Given the description of an element on the screen output the (x, y) to click on. 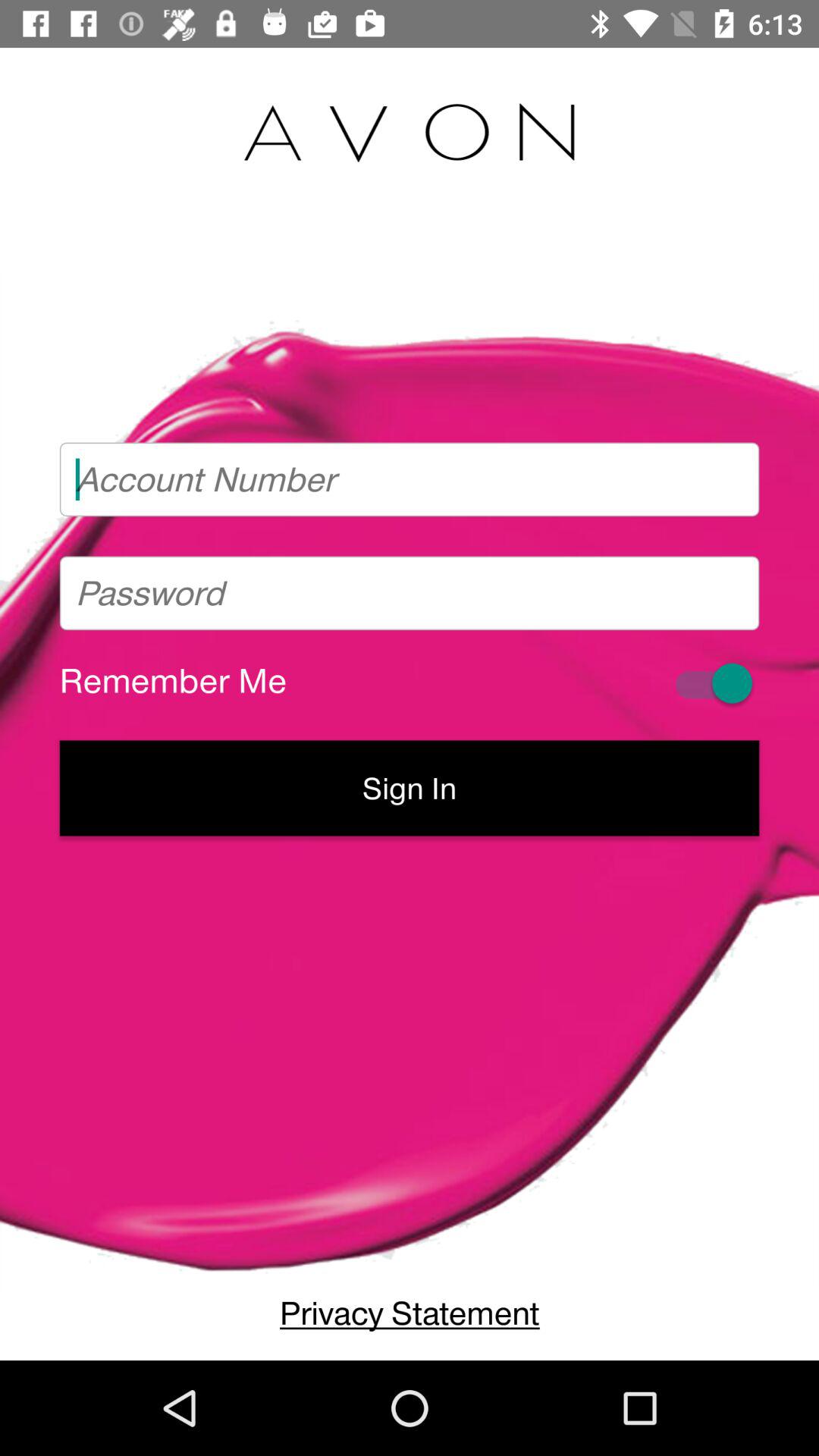
toggle remembering login (711, 683)
